Given the description of an element on the screen output the (x, y) to click on. 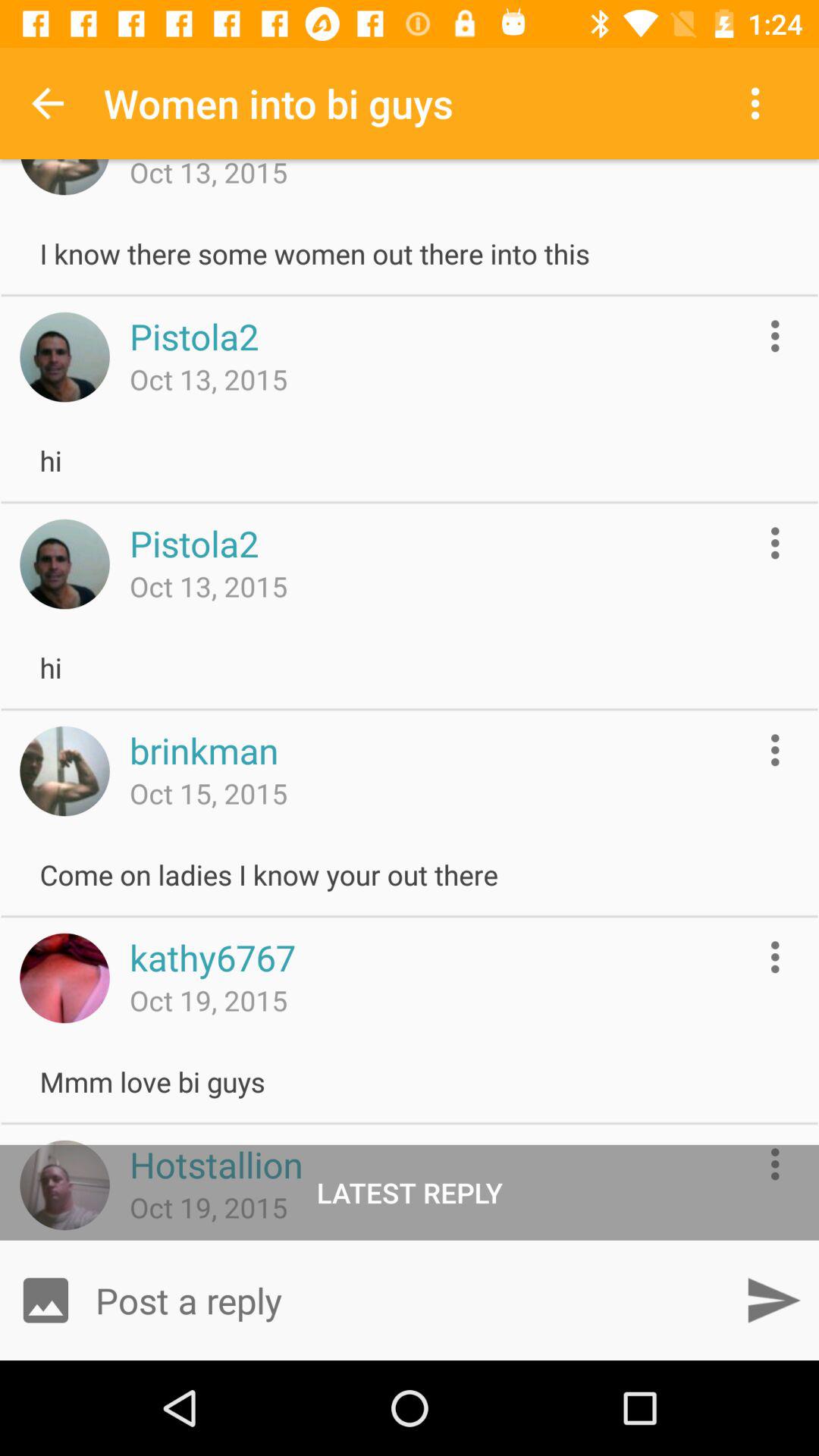
select the item to the left of women into bi item (47, 103)
